Given the description of an element on the screen output the (x, y) to click on. 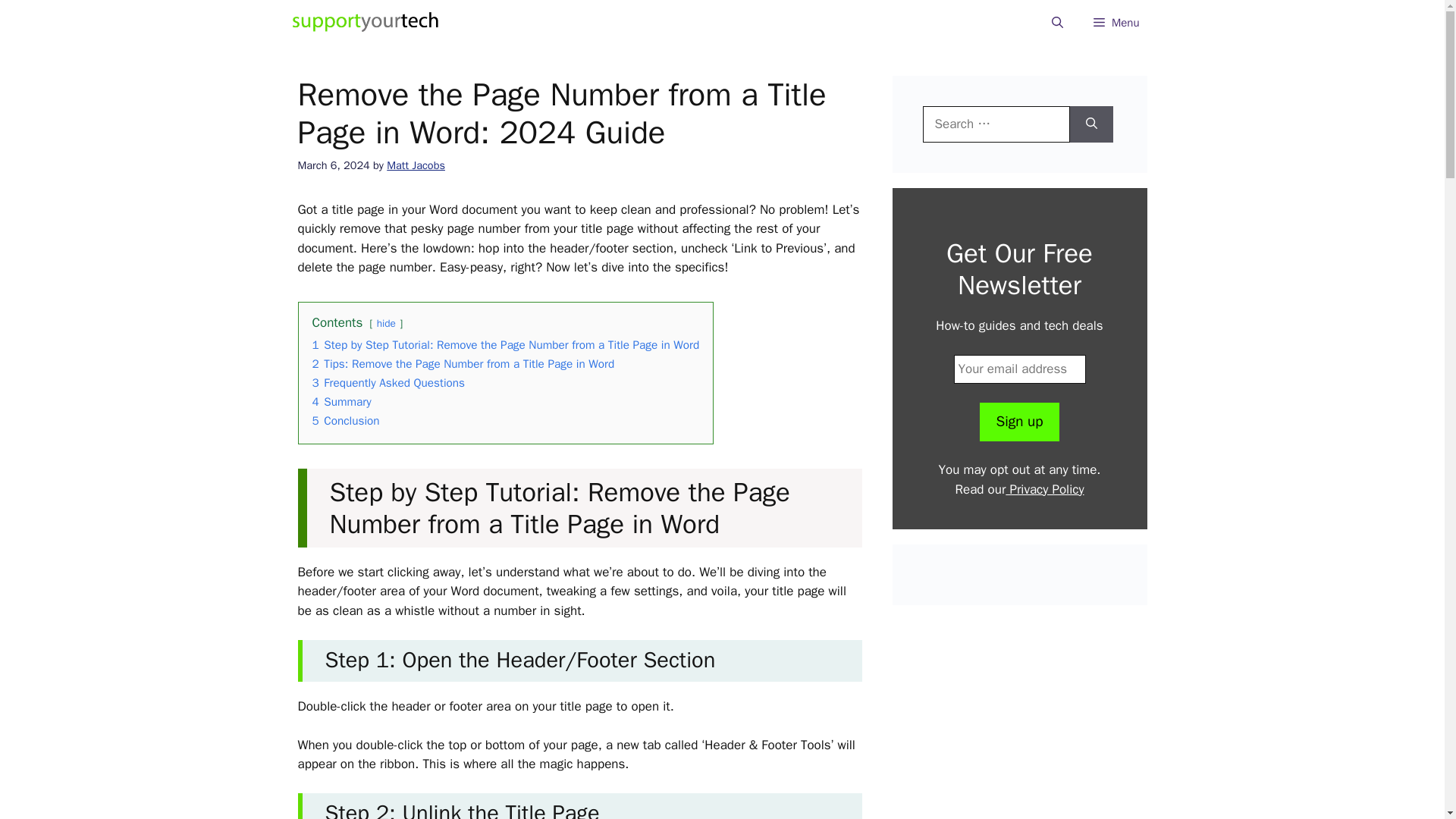
5 Conclusion (346, 420)
Support Your Tech (365, 22)
3 Frequently Asked Questions (389, 382)
Matt Jacobs (416, 164)
Menu (1116, 22)
2 Tips: Remove the Page Number from a Title Page in Word (463, 363)
hide (386, 323)
4 Summary (342, 401)
Sign up (1018, 421)
